Given the description of an element on the screen output the (x, y) to click on. 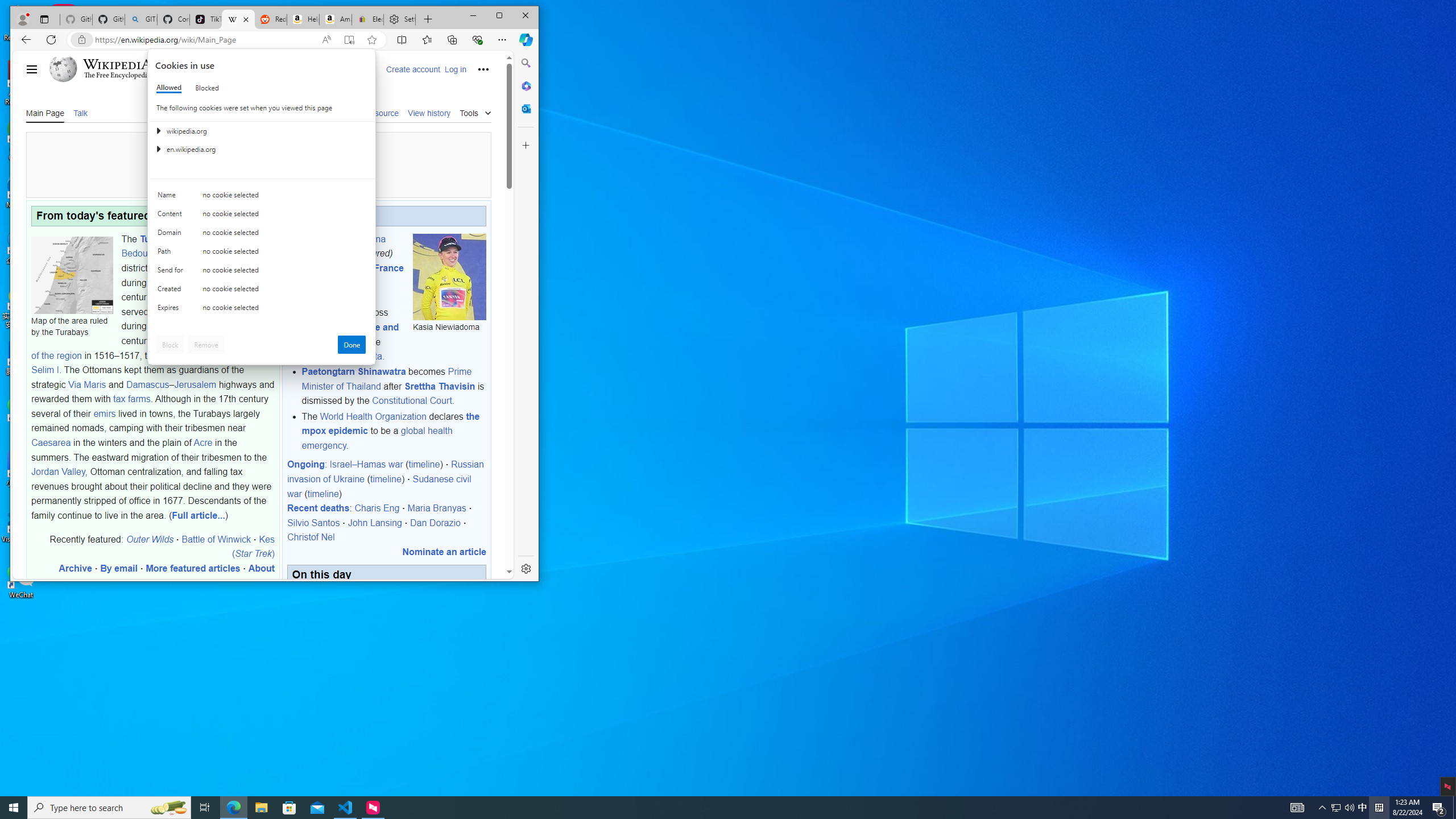
Domain (172, 235)
Microsoft Store (289, 807)
Created (172, 291)
Name (172, 197)
Expires (172, 310)
Path (172, 253)
Done (351, 344)
Send for (1362, 807)
Allowed (172, 272)
Visual Studio Code - 1 running window (1335, 807)
Block (169, 87)
